Given the description of an element on the screen output the (x, y) to click on. 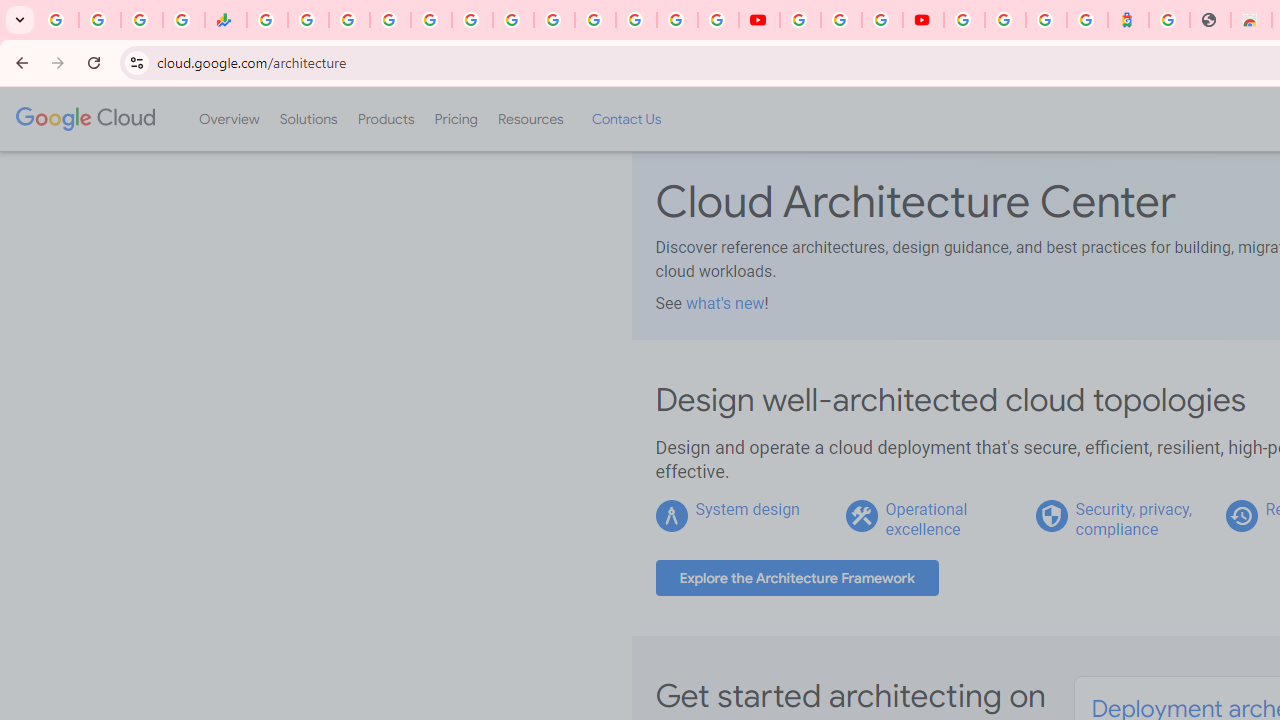
YouTube (758, 20)
Content Creator Programs & Opportunities - YouTube Creators (923, 20)
